Given the description of an element on the screen output the (x, y) to click on. 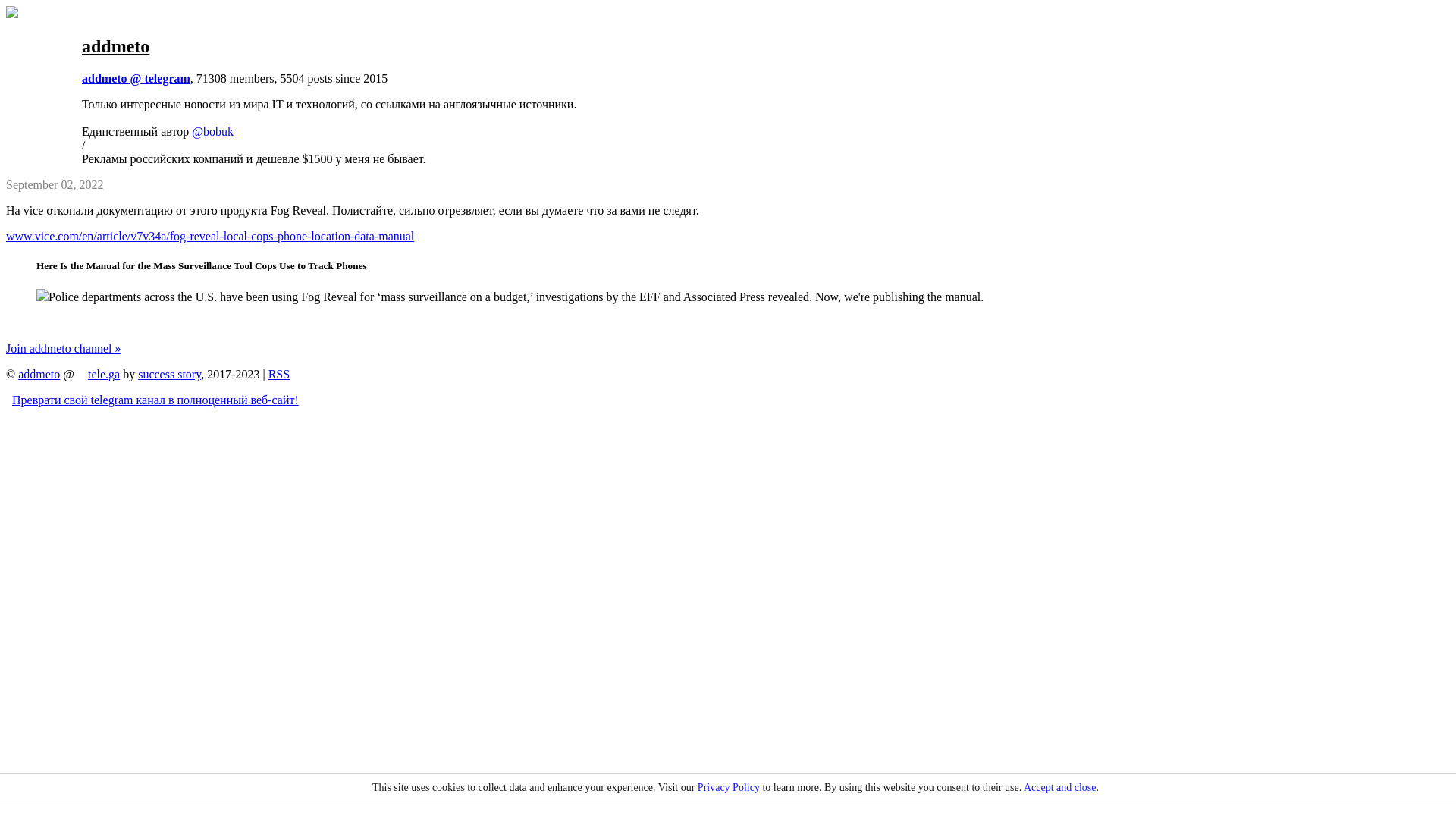
addmeto Element type: text (115, 46)
September 02, 2022 Element type: text (54, 184)
tele.ga Element type: text (103, 373)
Privacy Policy Element type: text (728, 787)
success story Element type: text (169, 373)
addmeto Element type: text (38, 373)
RSS Element type: text (278, 373)
addmeto @ telegram Element type: text (135, 78)
@bobuk Element type: text (212, 131)
Accept and close Element type: text (1059, 787)
